Given the description of an element on the screen output the (x, y) to click on. 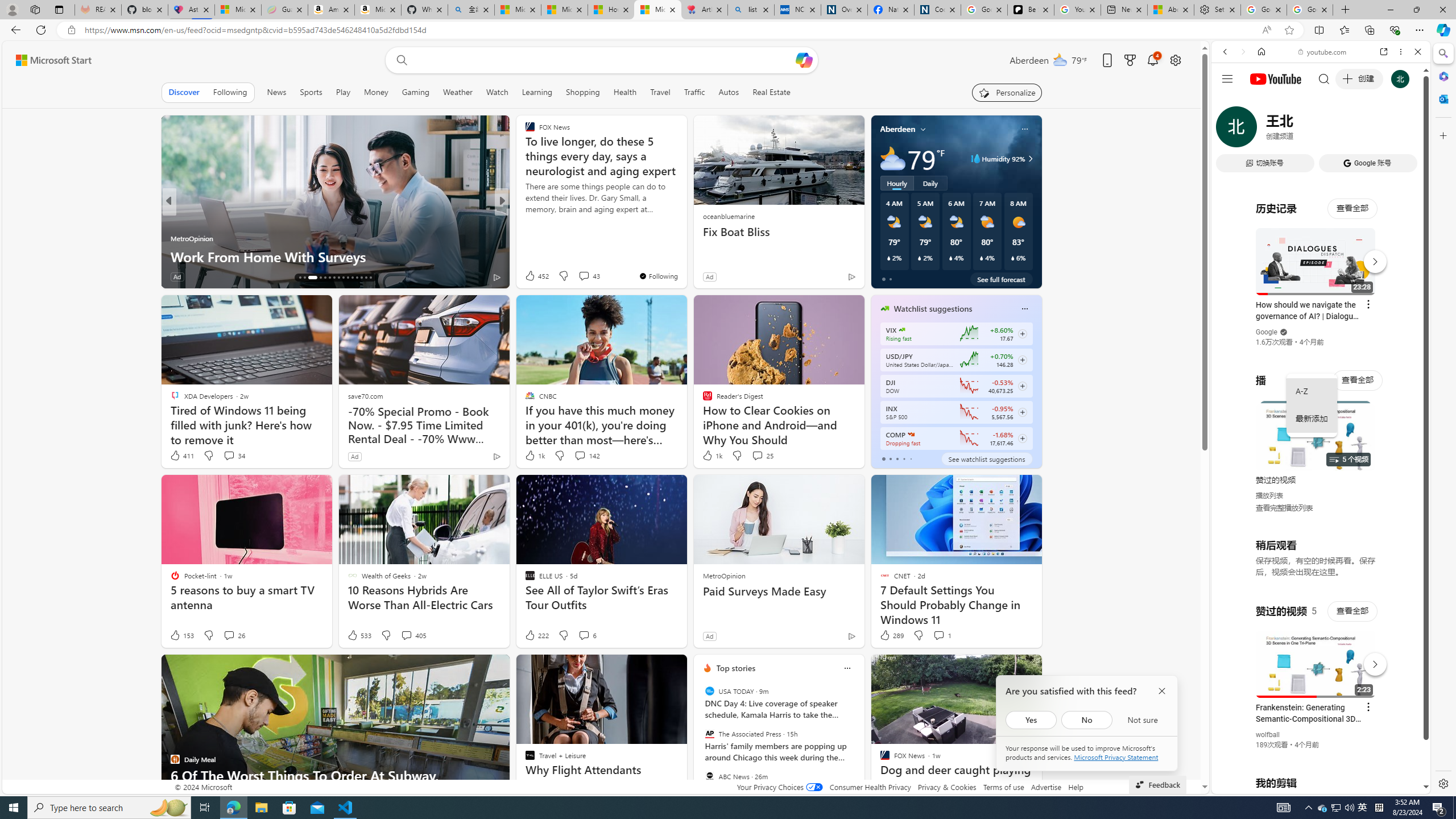
CNET (524, 219)
oceanbluemarine (727, 215)
Class: weather-current-precipitation-glyph (1012, 257)
Travel (660, 92)
IMAGES (1262, 130)
411 Like (181, 455)
View comments 3 Comment (572, 276)
tab-2 (897, 458)
See watchlist suggestions (986, 459)
